Given the description of an element on the screen output the (x, y) to click on. 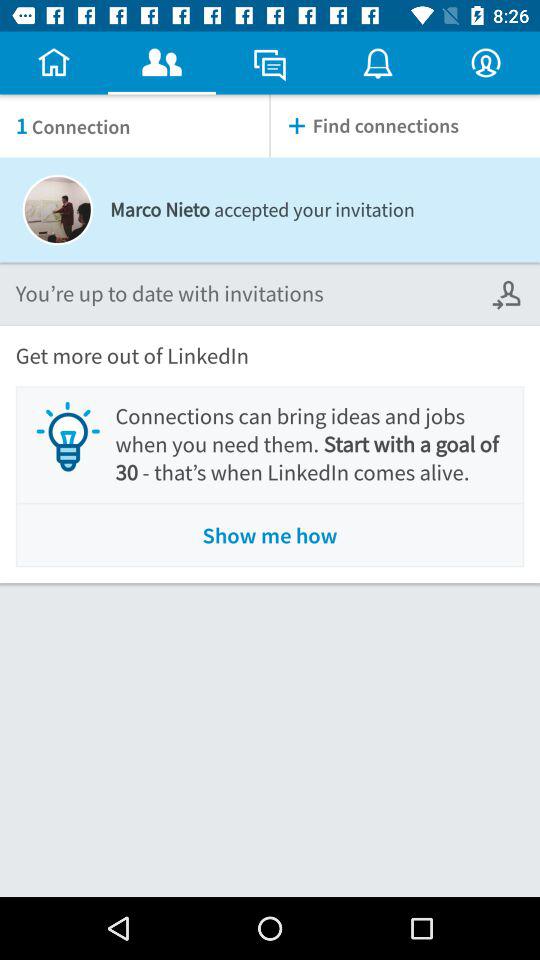
choose the item to the right of the 1 connection item (405, 125)
